Given the description of an element on the screen output the (x, y) to click on. 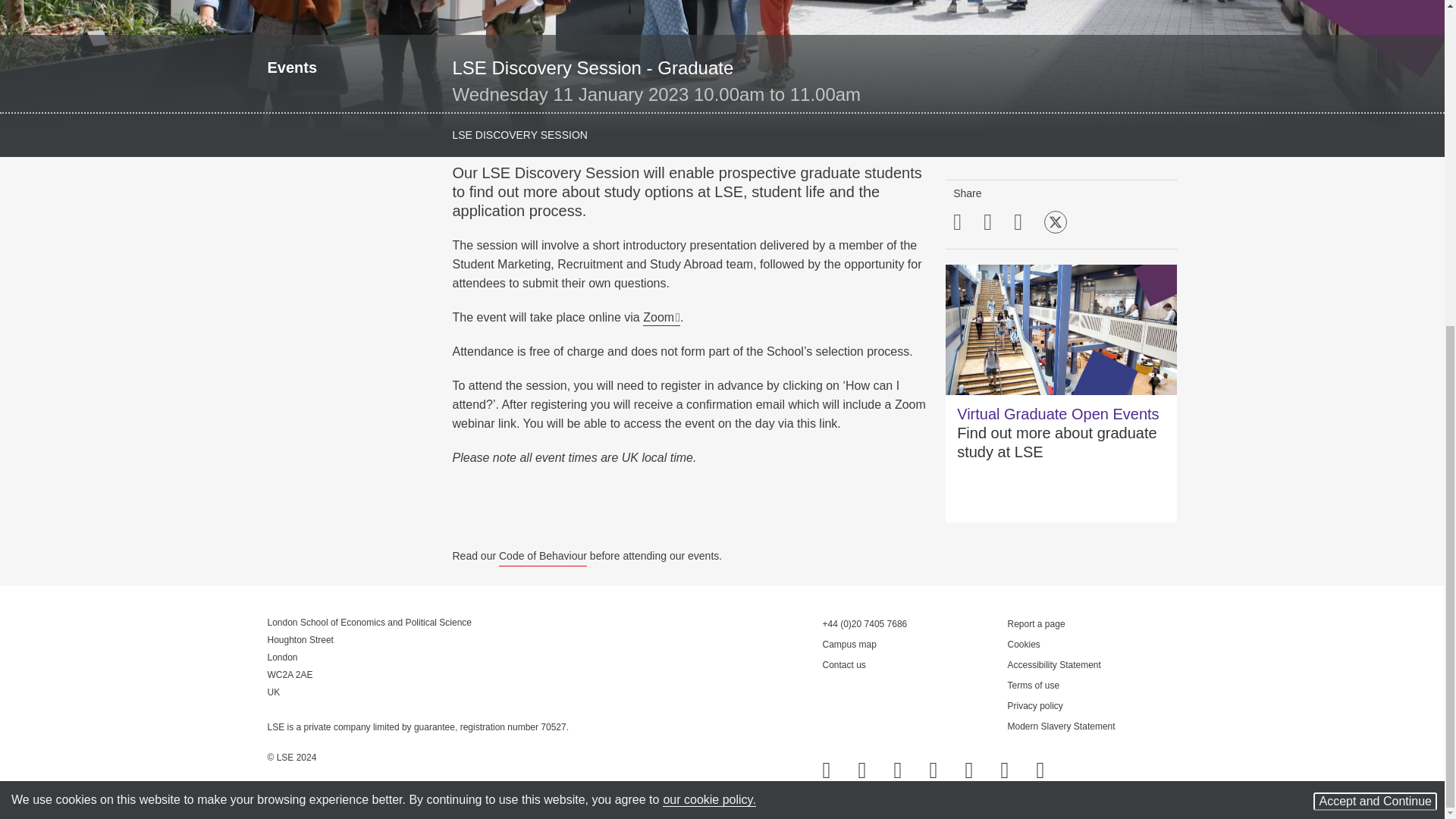
Accept and Continue (1375, 265)
our cookie policy. (708, 264)
